Given the description of an element on the screen output the (x, y) to click on. 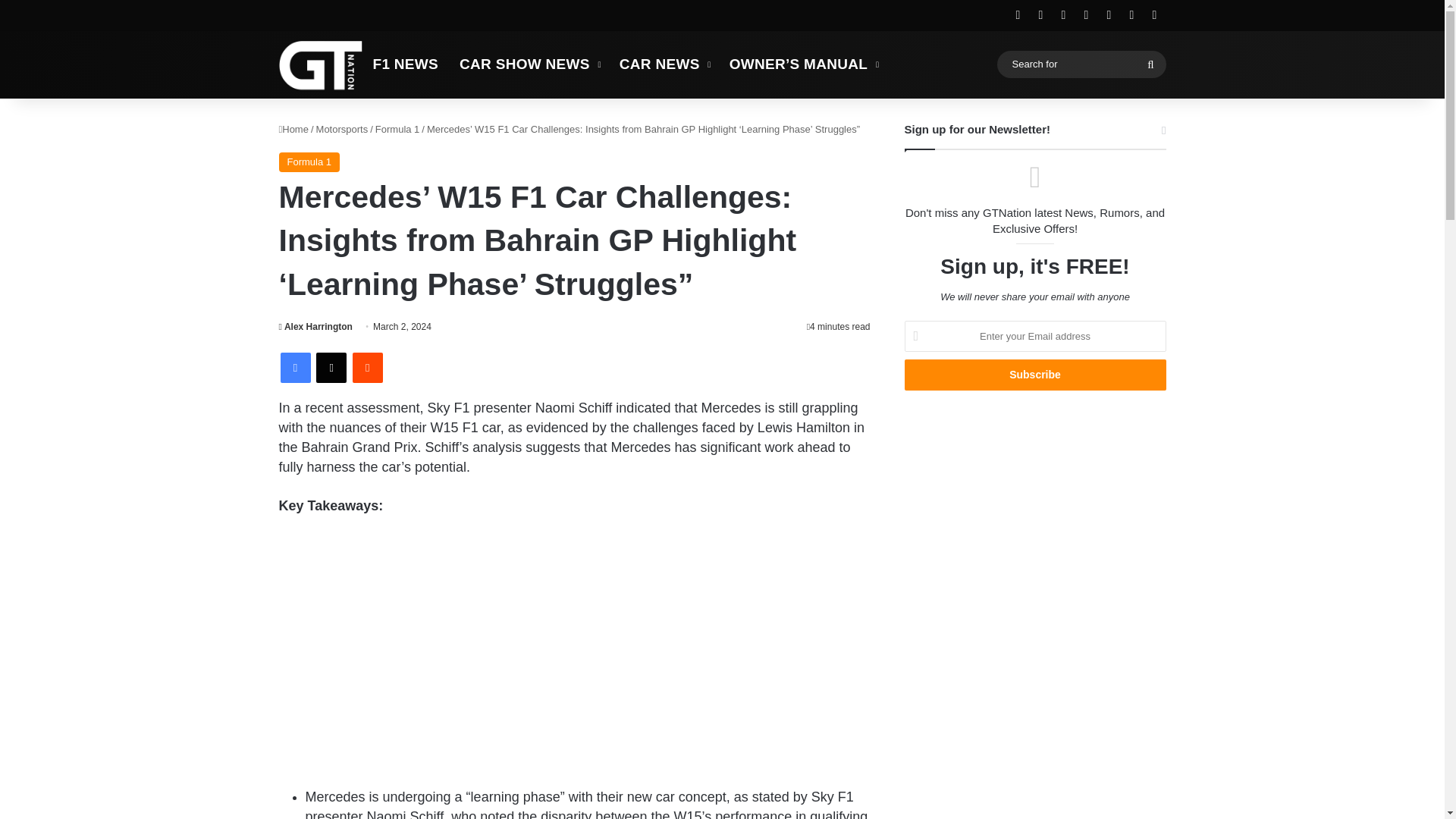
CAR NEWS (663, 64)
F1 NEWS (405, 64)
Reddit (367, 367)
Search for (1080, 63)
Facebook (296, 367)
Formula 1 (309, 161)
Alex Harrington (315, 326)
Grand Tour Nation (320, 64)
Reddit (367, 367)
Formula 1 (397, 129)
